Given the description of an element on the screen output the (x, y) to click on. 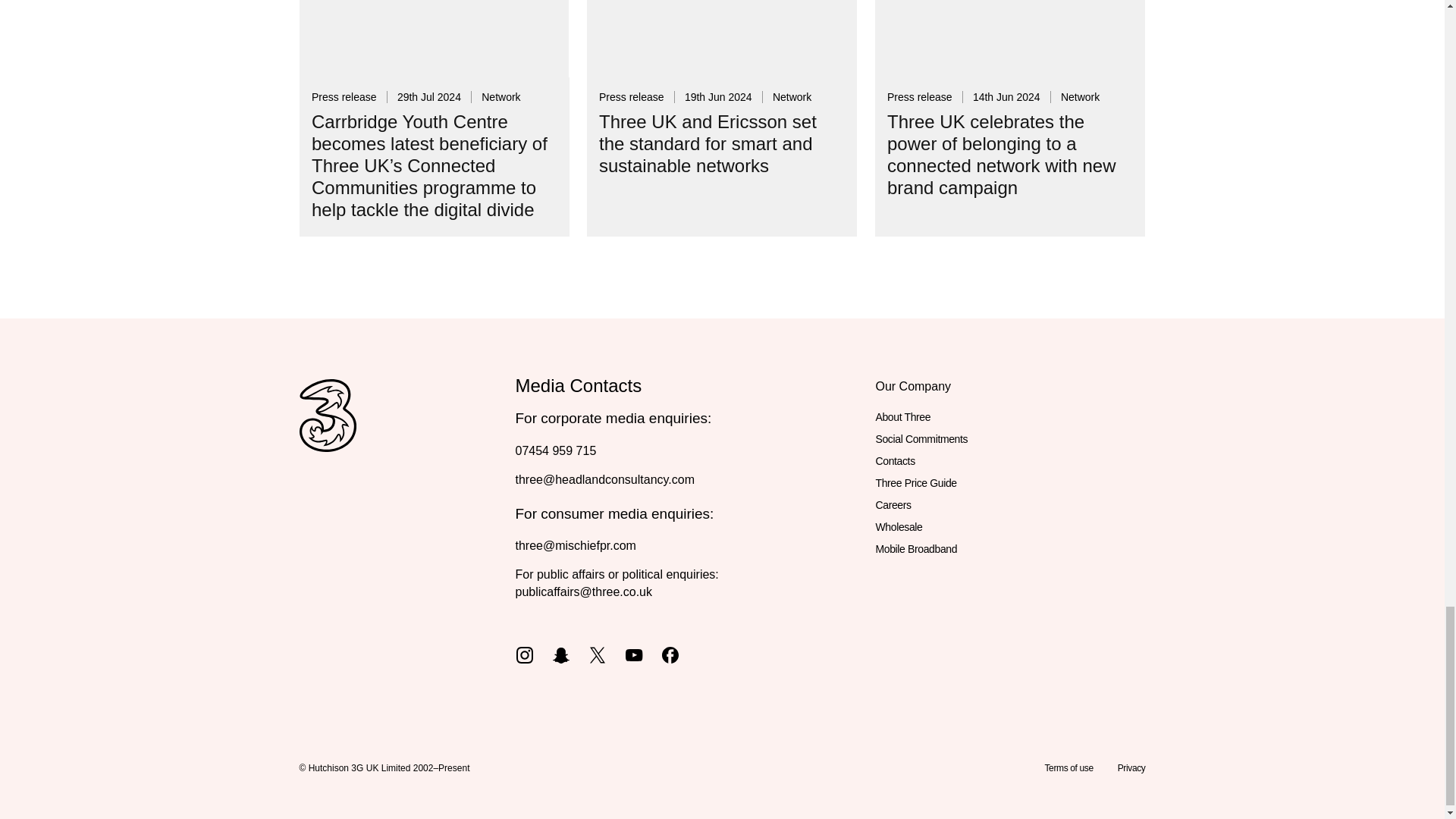
Three Price Guide (915, 483)
View our Facebook feed. (670, 653)
07454 959 715 (555, 450)
About Three (902, 416)
Watch our YouTube channel. (633, 653)
Home (326, 431)
Social Commitments (921, 438)
Wholesale (898, 527)
Read our tweets. (597, 653)
Mobile Broadband (915, 548)
Visit our Instagram page. (524, 653)
Careers (893, 505)
Terms of use (1068, 767)
